Given the description of an element on the screen output the (x, y) to click on. 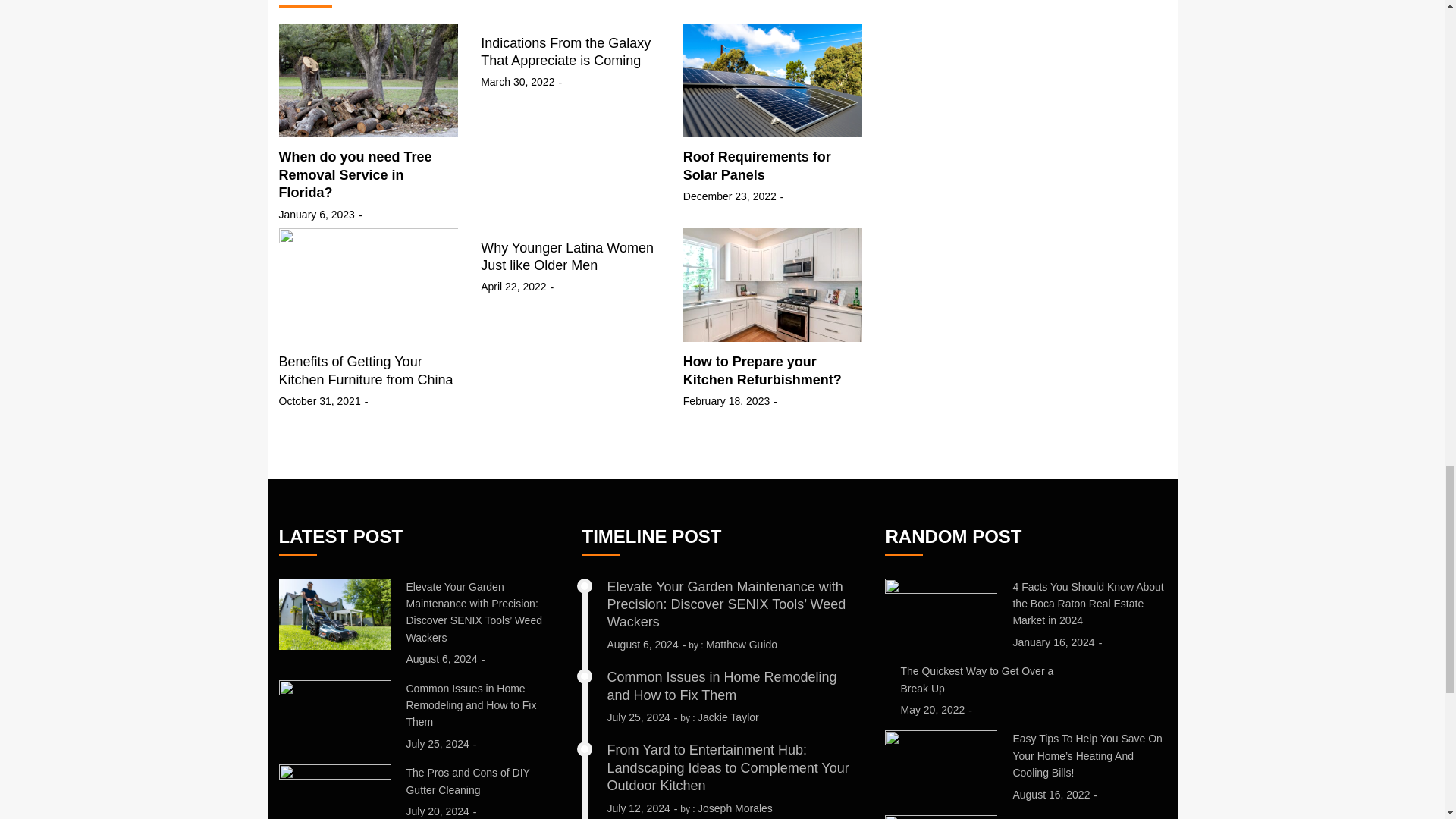
February 18, 2023 (726, 401)
Indications From the Galaxy That Appreciate is Coming (565, 51)
April 22, 2022 (513, 286)
December 23, 2022 (729, 196)
Roof Requirements for Solar Panels (756, 165)
Why Younger Latina Women Just like Older Men (566, 256)
How to Prepare your Kitchen Refurbishment? (761, 369)
Benefits of Getting Your Kitchen Furniture from China (365, 369)
January 6, 2023 (317, 214)
October 31, 2021 (320, 401)
March 30, 2022 (517, 81)
When do you need Tree Removal Service in Florida? (355, 174)
